Given the description of an element on the screen output the (x, y) to click on. 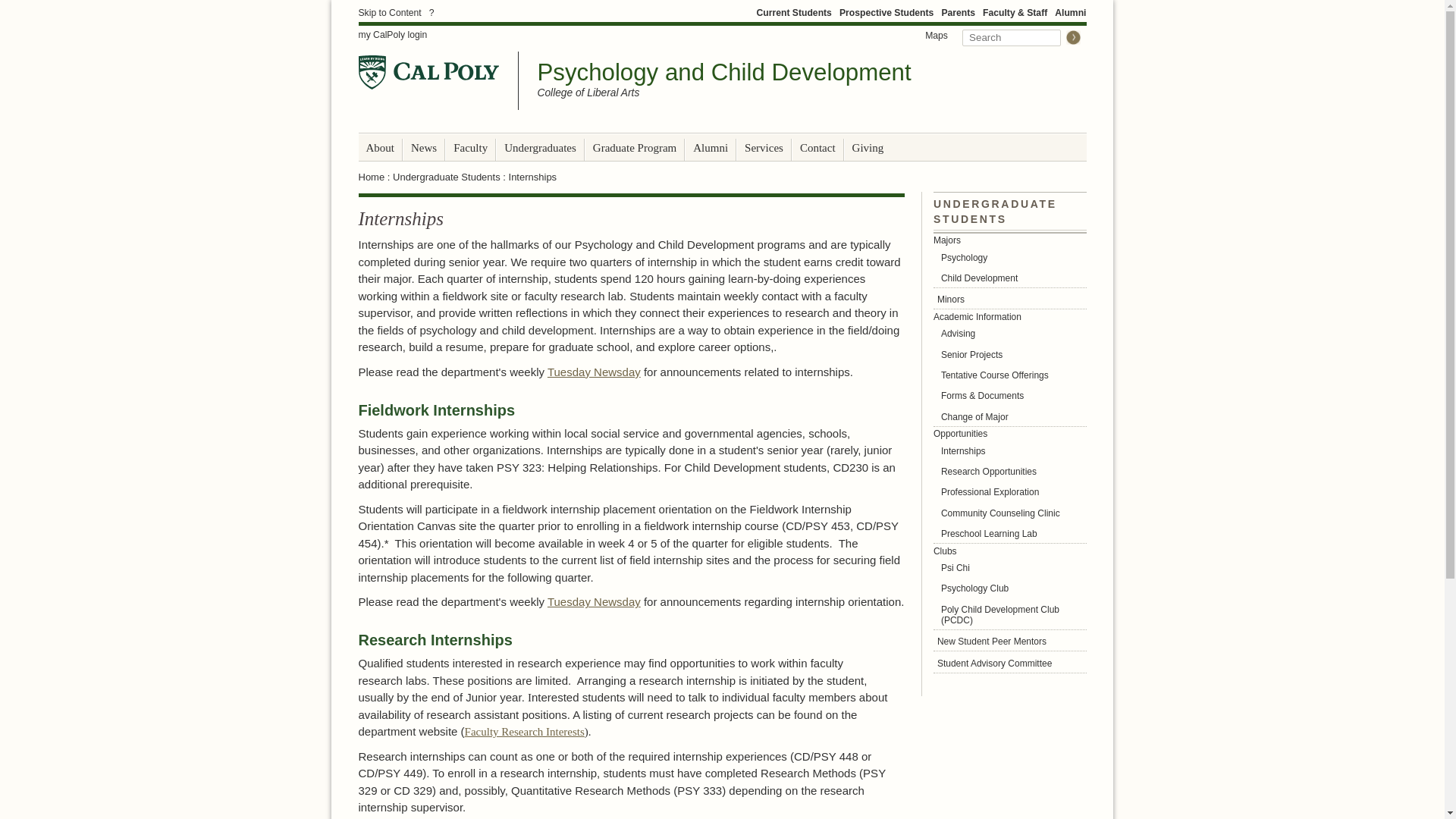
Maps (936, 35)
Contact (817, 147)
News (423, 147)
Search this site (1011, 37)
UNDERGRADUATE STUDENTS (995, 207)
Professional Exploration (1009, 491)
Maps (936, 35)
Psychology (1009, 257)
Senior Projects (1009, 353)
Current Students (793, 12)
